Given the description of an element on the screen output the (x, y) to click on. 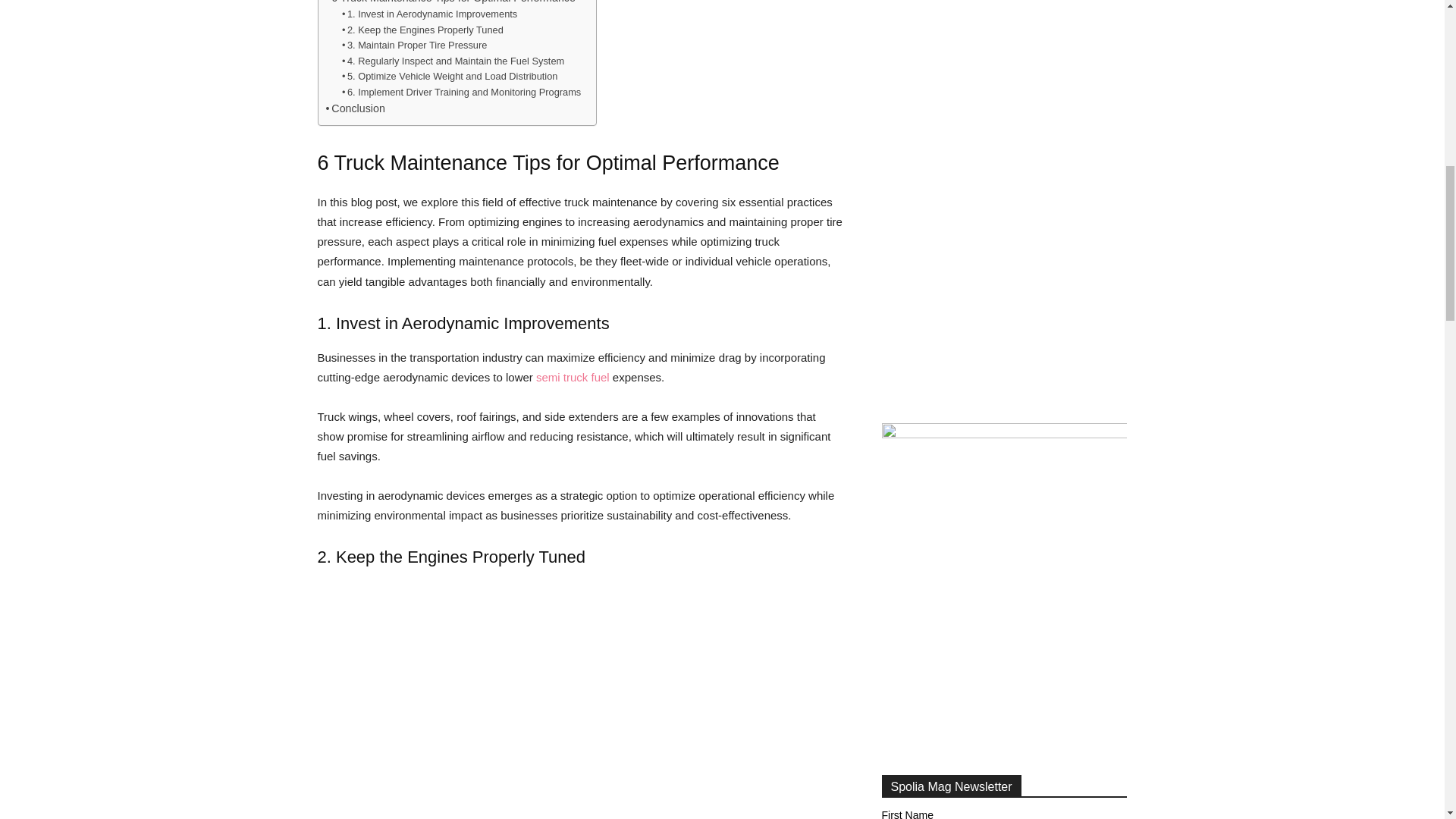
3. Maintain Proper Tire Pressure (414, 45)
4. Regularly Inspect and Maintain the Fuel System (453, 61)
2. Keep the Engines Properly Tuned (422, 30)
6 Truck Maintenance Tips for Optimal Performance (450, 3)
1. Invest in Aerodynamic Improvements (429, 14)
